Given the description of an element on the screen output the (x, y) to click on. 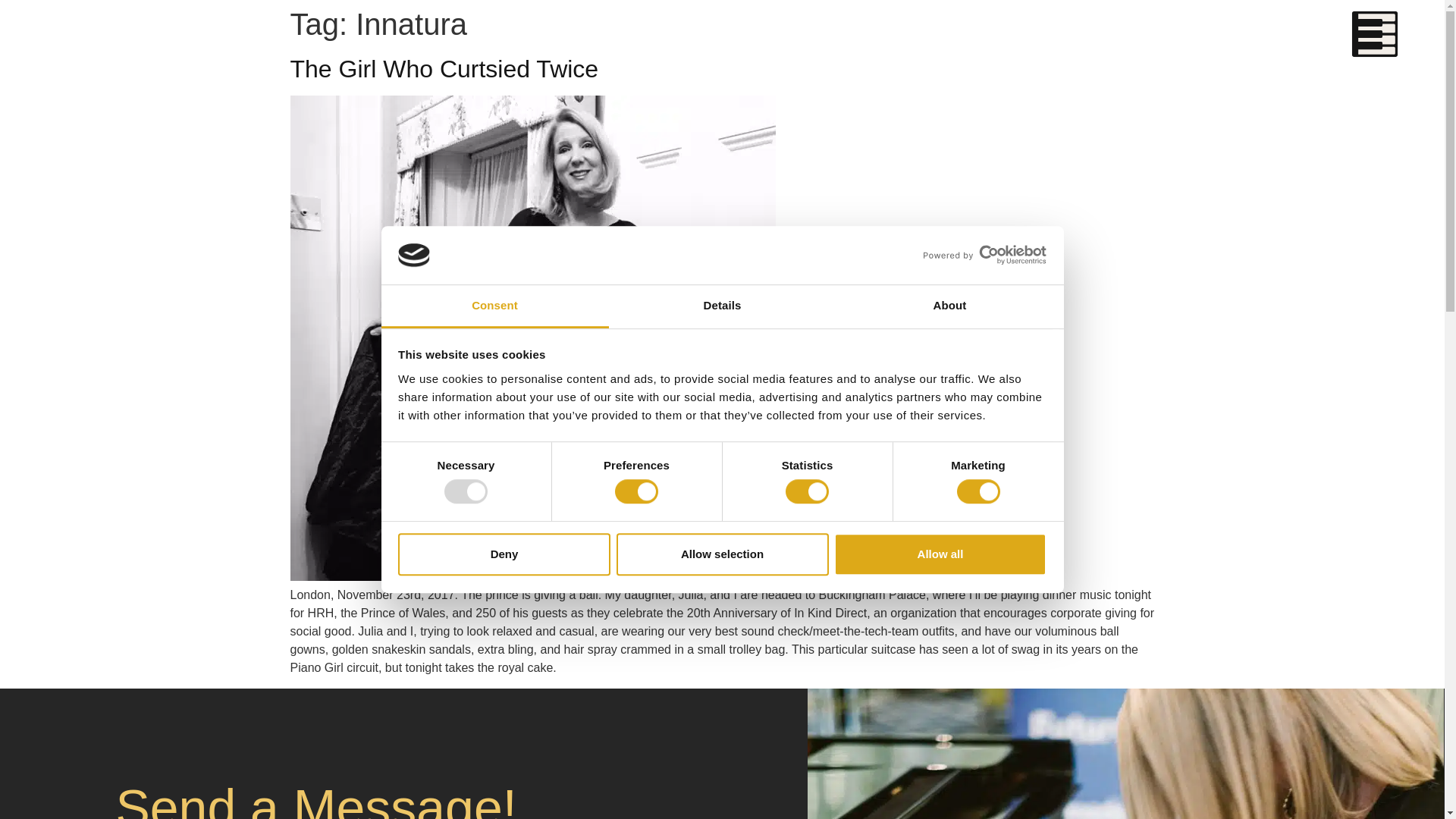
About (948, 306)
Consent (494, 306)
Details (721, 306)
